Given the description of an element on the screen output the (x, y) to click on. 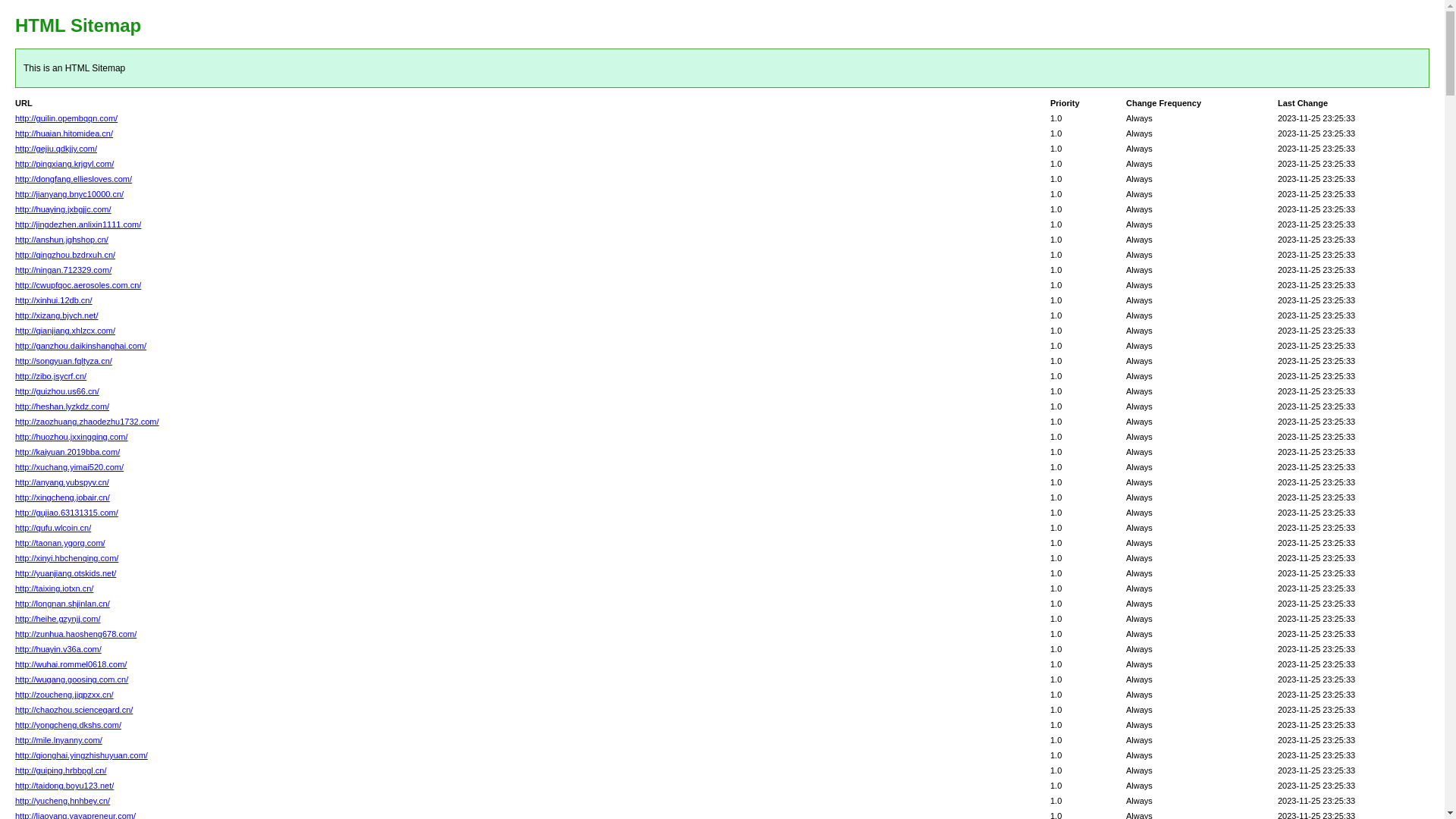
http://yongcheng.dkshs.com/ Element type: text (68, 724)
http://huozhou.jxxingqing.com/ Element type: text (71, 436)
http://gejiu.qdkjjy.com/ Element type: text (56, 148)
http://xizang.bjych.net/ Element type: text (56, 315)
http://zunhua.haosheng678.com/ Element type: text (75, 633)
http://anshun.jghshop.cn/ Element type: text (61, 239)
http://zoucheng.jjqpzxx.cn/ Element type: text (64, 694)
http://gujiao.63131315.com/ Element type: text (66, 512)
http://yucheng.hnhbey.cn/ Element type: text (62, 800)
http://songyuan.fqltyza.cn/ Element type: text (63, 360)
http://longnan.shjinlan.cn/ Element type: text (62, 603)
http://taidong.boyu123.net/ Element type: text (64, 785)
http://anyang.yubspyv.cn/ Element type: text (62, 481)
http://xingcheng.jobair.cn/ Element type: text (62, 497)
http://taixing.iotxn.cn/ Element type: text (54, 588)
http://heihe.gzynjj.com/ Element type: text (57, 618)
http://pingxiang.krjgyl.com/ Element type: text (64, 163)
http://guizhou.us66.cn/ Element type: text (57, 390)
http://cwupfqoc.aerosoles.com.cn/ Element type: text (78, 284)
http://chaozhou.sciencegard.cn/ Element type: text (73, 709)
http://xinhui.12db.cn/ Element type: text (53, 299)
http://mile.lnyanny.com/ Element type: text (58, 739)
http://jianyang.bnyc10000.cn/ Element type: text (69, 193)
http://ningan.712329.com/ Element type: text (63, 269)
http://huayin.v36a.com/ Element type: text (58, 648)
http://ganzhou.daikinshanghai.com/ Element type: text (80, 345)
http://huaian.hitomidea.cn/ Element type: text (63, 133)
http://xuchang.yimai520.com/ Element type: text (69, 466)
http://zaozhuang.zhaodezhu1732.com/ Element type: text (87, 421)
http://qianjiang.xhlzcx.com/ Element type: text (65, 330)
http://huaying.jxbgjjc.com/ Element type: text (63, 208)
http://dongfang.elliesloves.com/ Element type: text (73, 178)
http://wuhai.rommel0618.com/ Element type: text (70, 663)
http://qionghai.yingzhishuyuan.com/ Element type: text (81, 754)
http://guilin.opembqqn.com/ Element type: text (66, 117)
http://taonan.ygorg.com/ Element type: text (60, 542)
http://xinyi.hbchenqing.com/ Element type: text (66, 557)
http://yuanjiang.otskids.net/ Element type: text (65, 572)
http://qufu.wlcoin.cn/ Element type: text (53, 527)
http://qingzhou.bzdrxuh.cn/ Element type: text (65, 254)
http://wugang.goosing.com.cn/ Element type: text (71, 679)
http://heshan.lyzkdz.com/ Element type: text (62, 406)
http://kaiyuan.2019bba.com/ Element type: text (67, 451)
http://guiping.hrbbpgl.cn/ Element type: text (60, 770)
http://zibo.jsycrf.cn/ Element type: text (50, 375)
http://jingdezhen.anlixin1111.com/ Element type: text (78, 224)
